Given the description of an element on the screen output the (x, y) to click on. 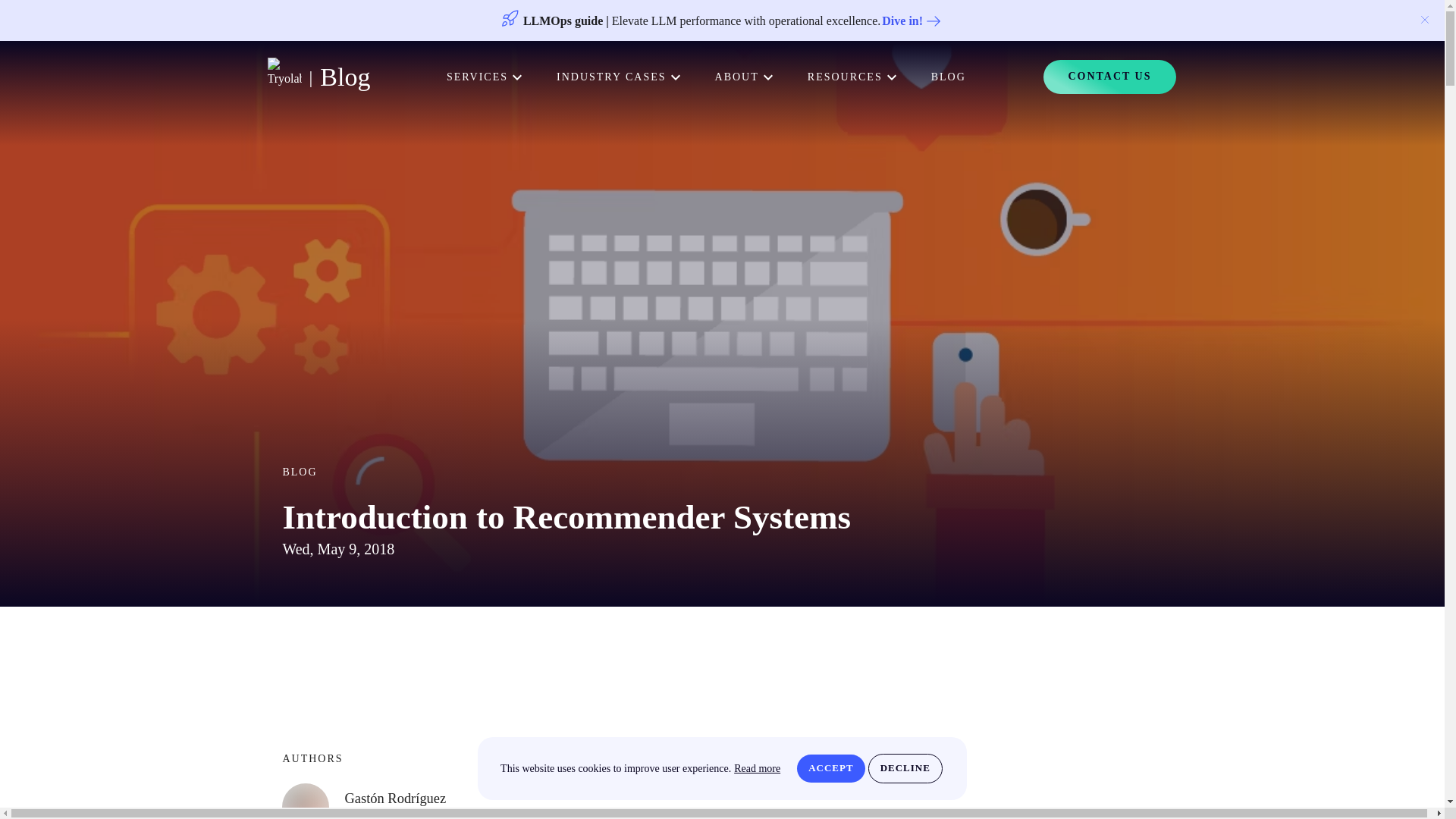
BLOG (948, 77)
Blog (344, 77)
CONTACT US (1108, 76)
